Given the description of an element on the screen output the (x, y) to click on. 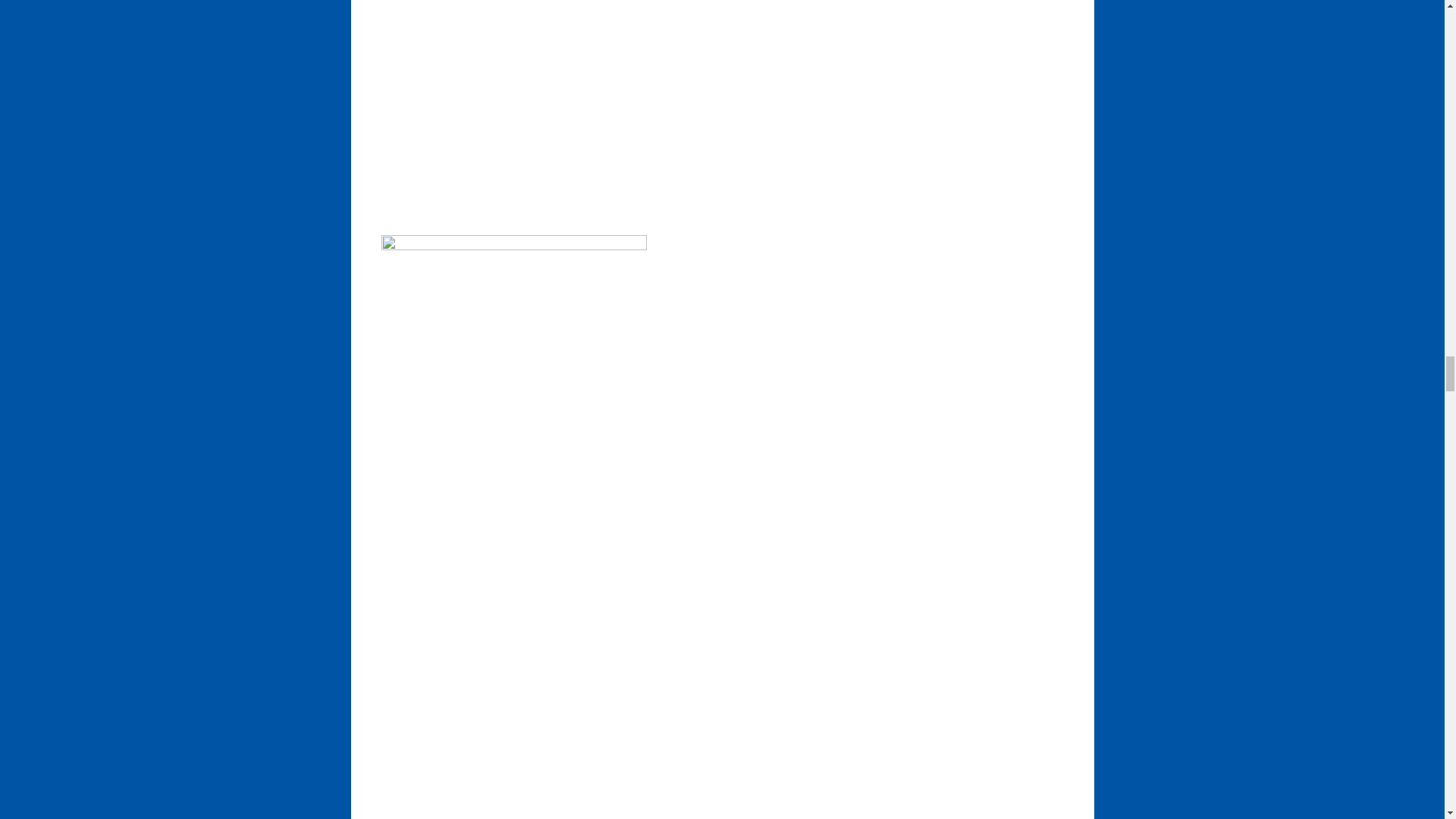
YouTube video player (592, 723)
